Given the description of an element on the screen output the (x, y) to click on. 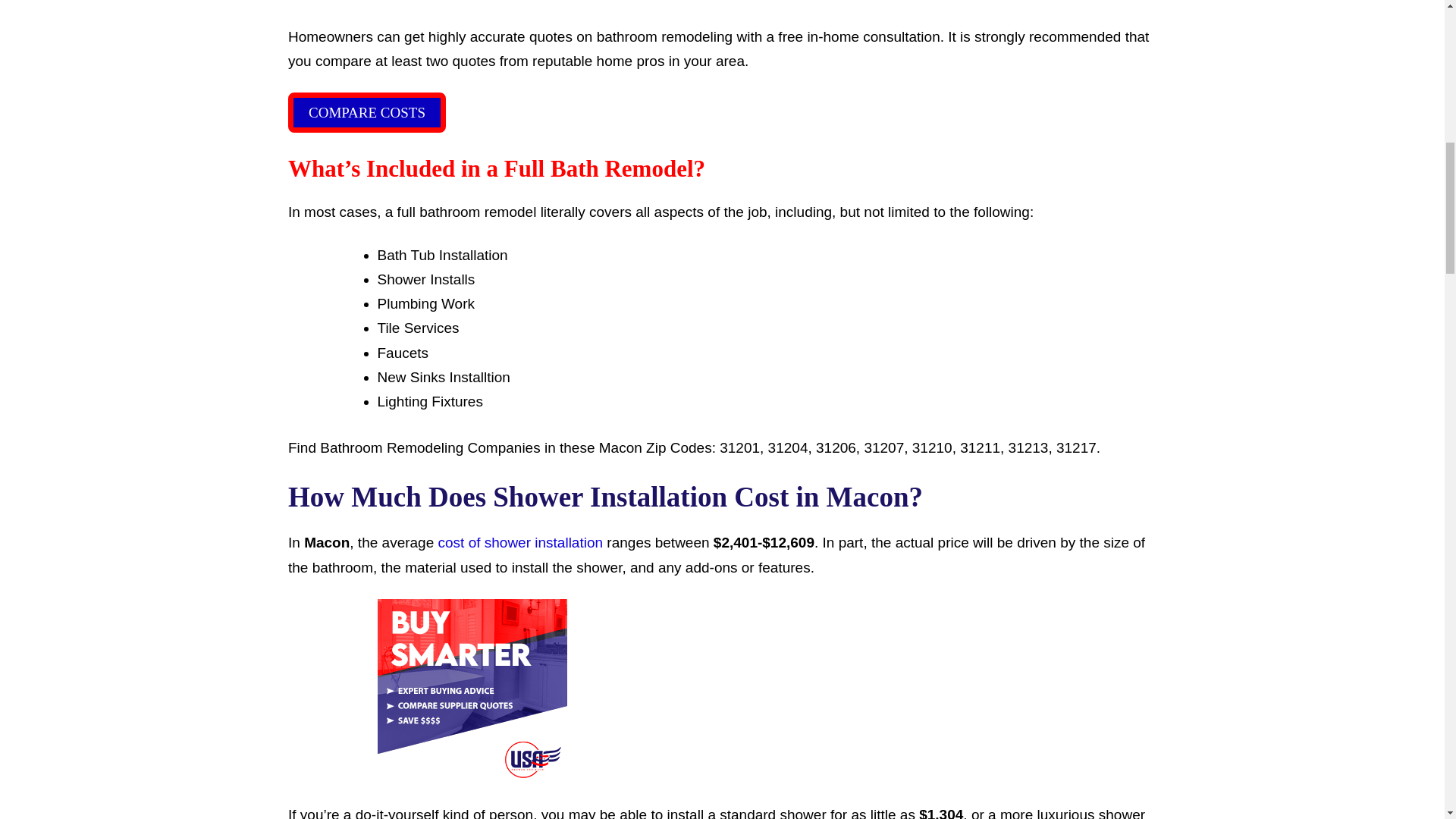
Buy-Smarter (472, 693)
